Given the description of an element on the screen output the (x, y) to click on. 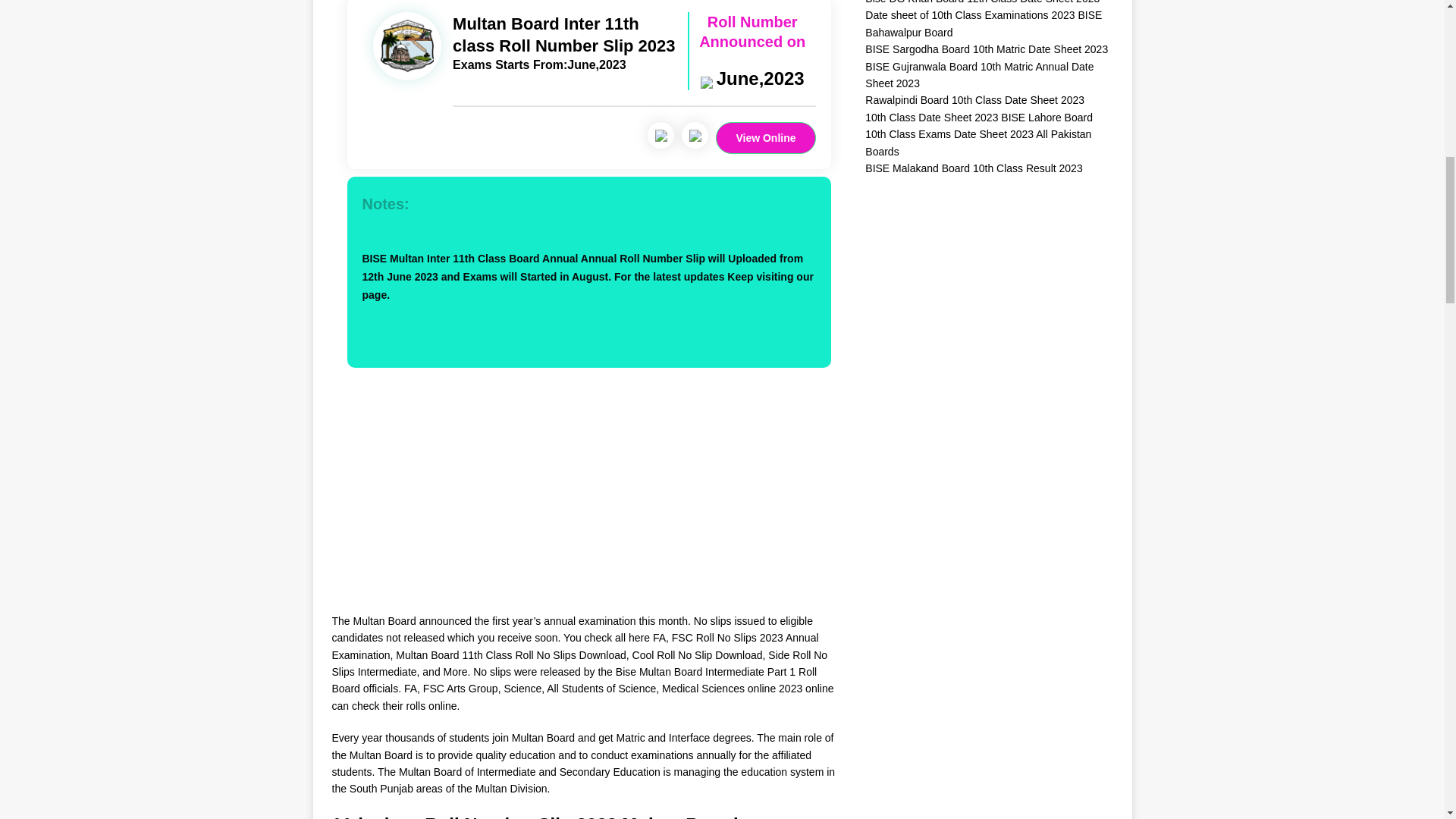
Advertisement (588, 506)
View Online (765, 137)
